Given the description of an element on the screen output the (x, y) to click on. 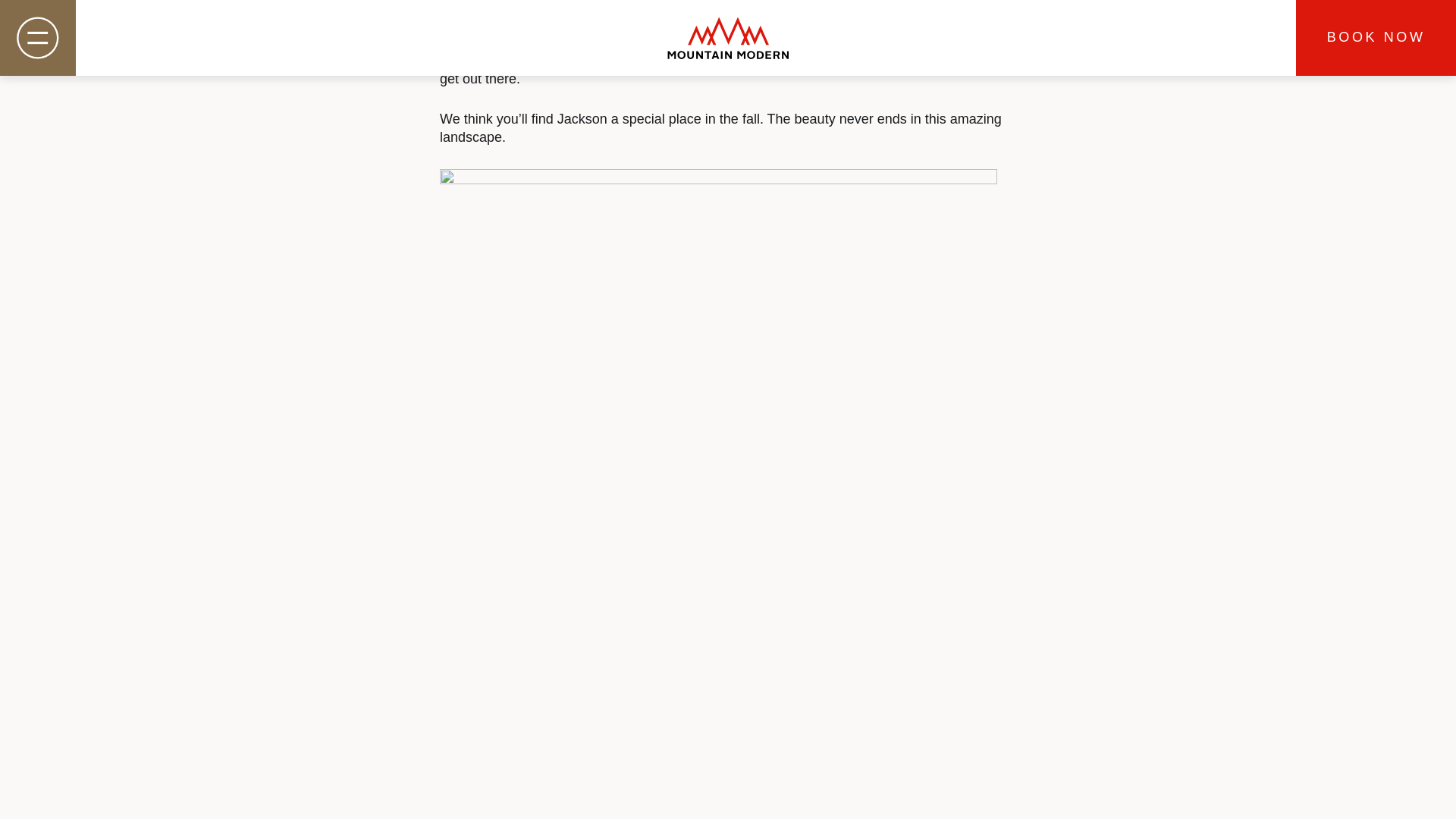
Our rooms are geared for adventure (548, 60)
